Given the description of an element on the screen output the (x, y) to click on. 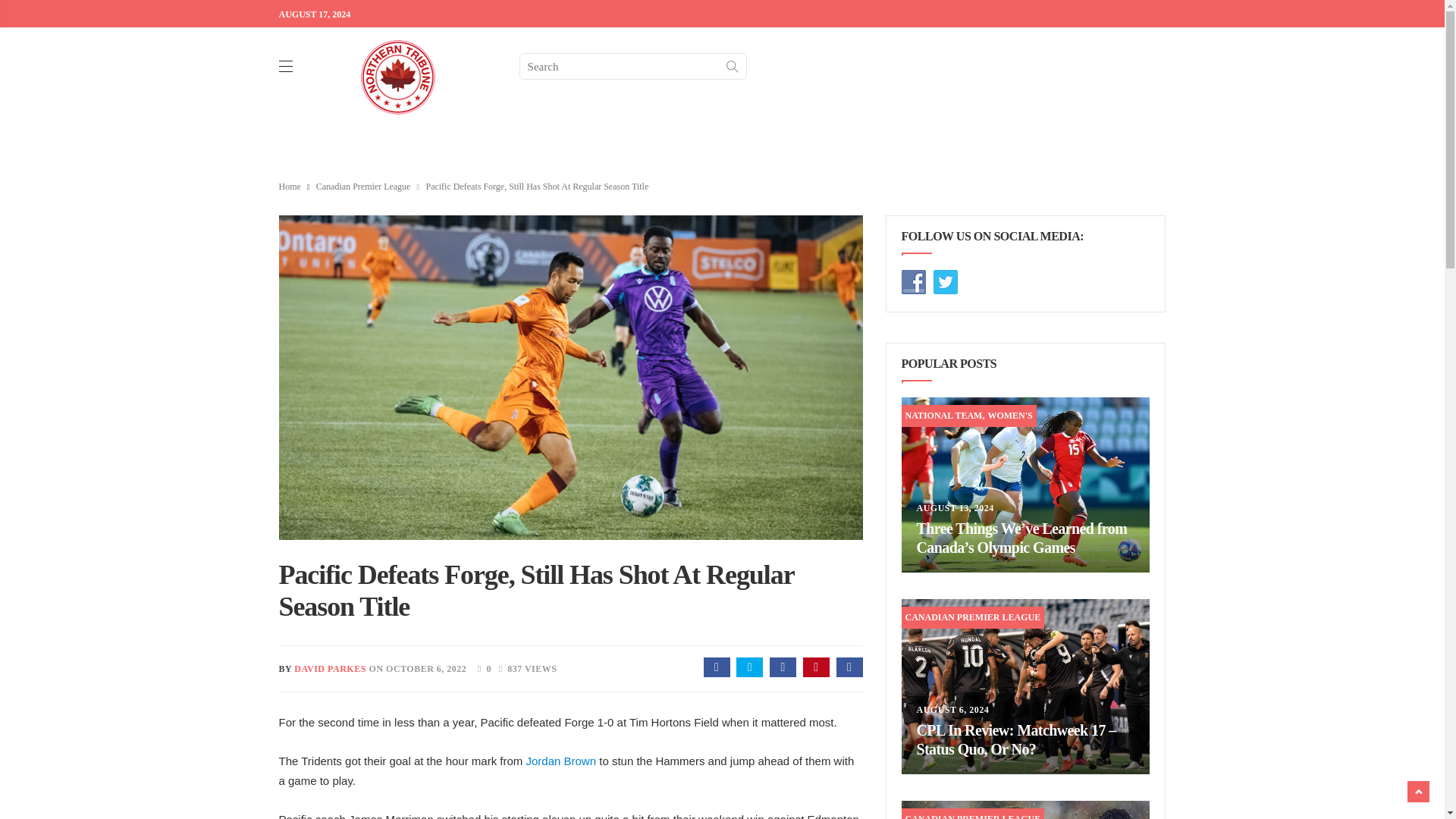
Jordan Brown (560, 760)
DAVID PARKES (330, 668)
Home (290, 185)
Canadian Premier League (362, 185)
Home (290, 185)
0 (480, 667)
